Given the description of an element on the screen output the (x, y) to click on. 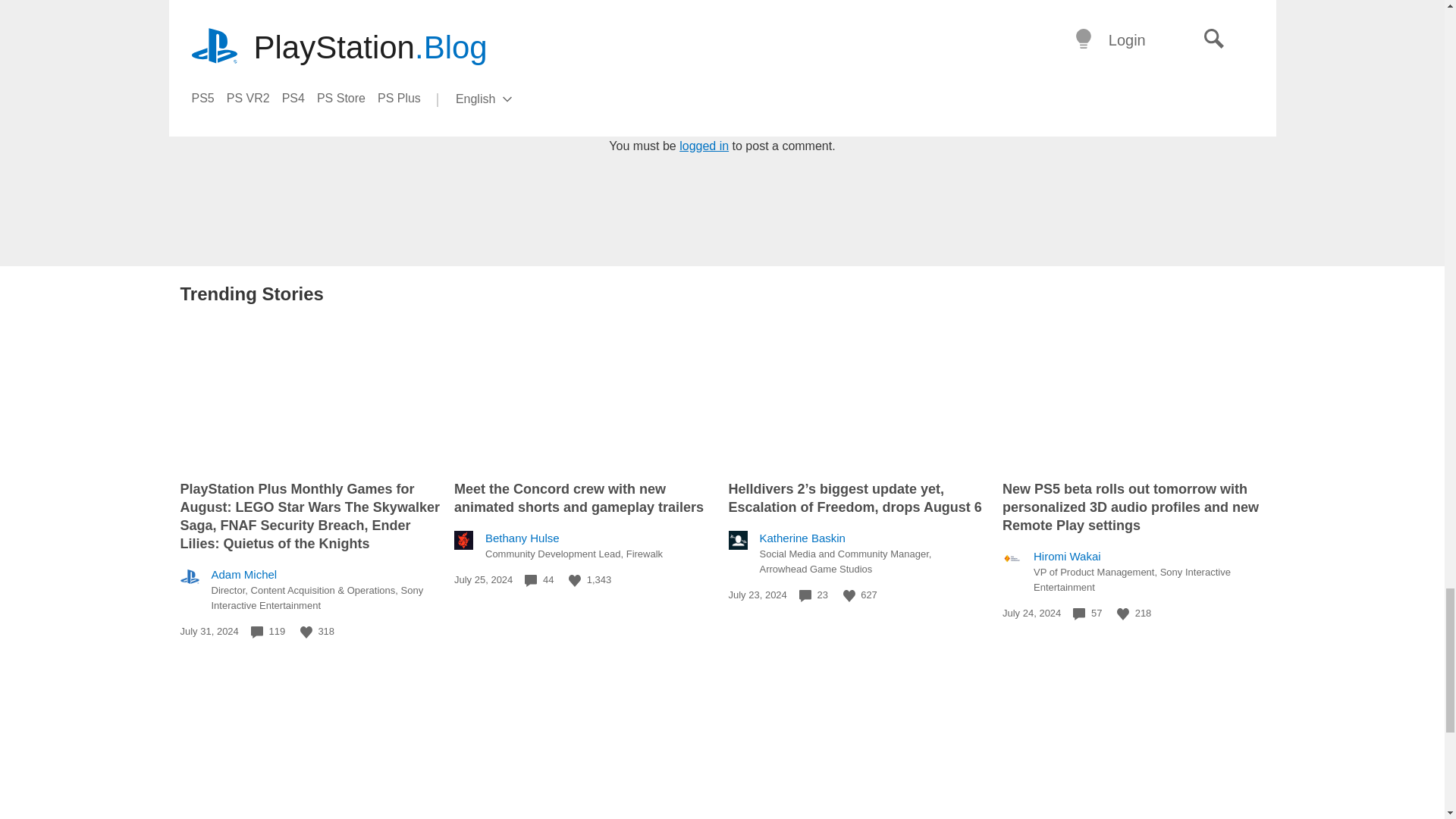
Like this (574, 580)
Like this (1122, 613)
Like this (849, 595)
Like this (306, 632)
